Given the description of an element on the screen output the (x, y) to click on. 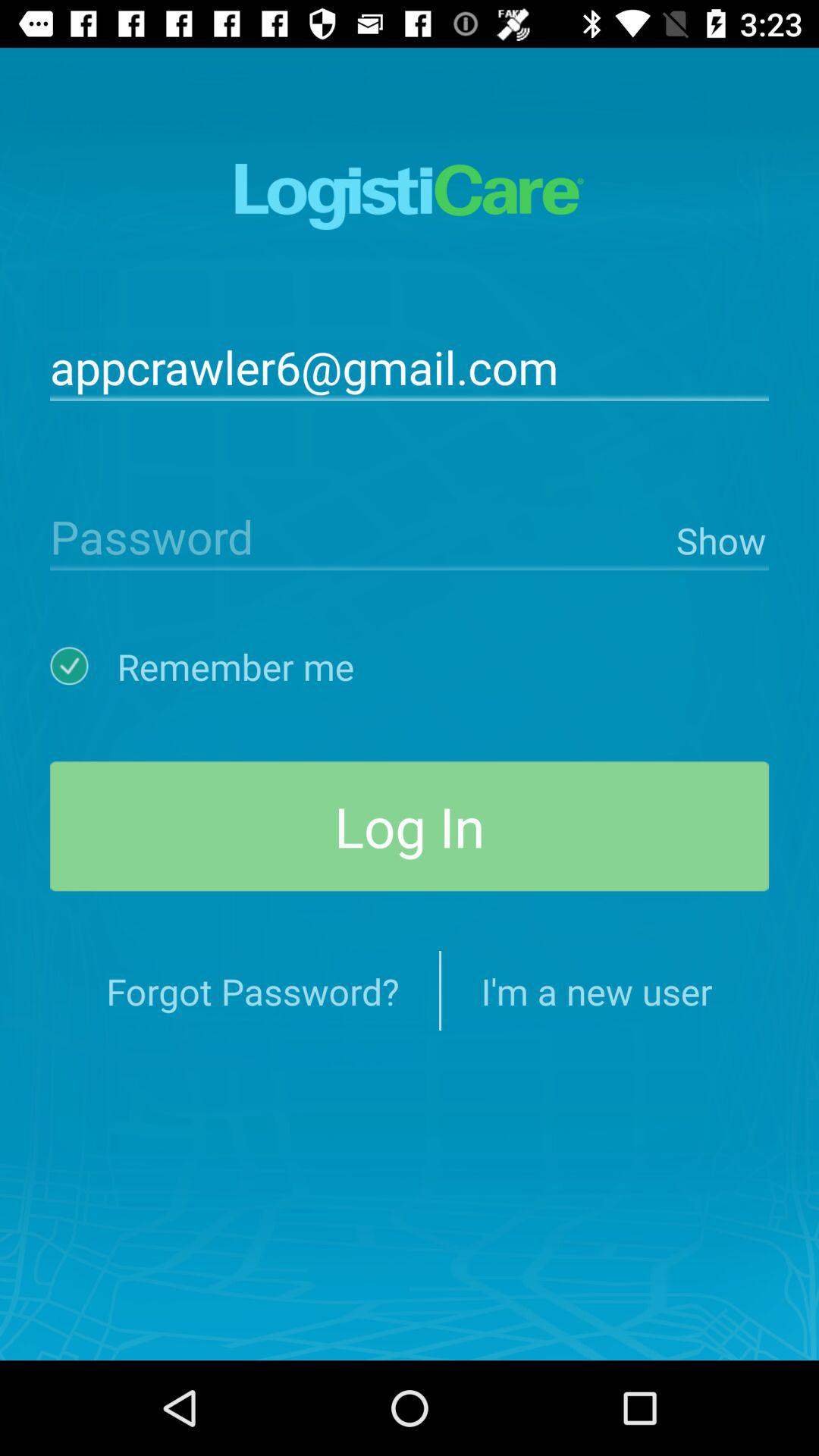
turn on log in item (409, 826)
